Given the description of an element on the screen output the (x, y) to click on. 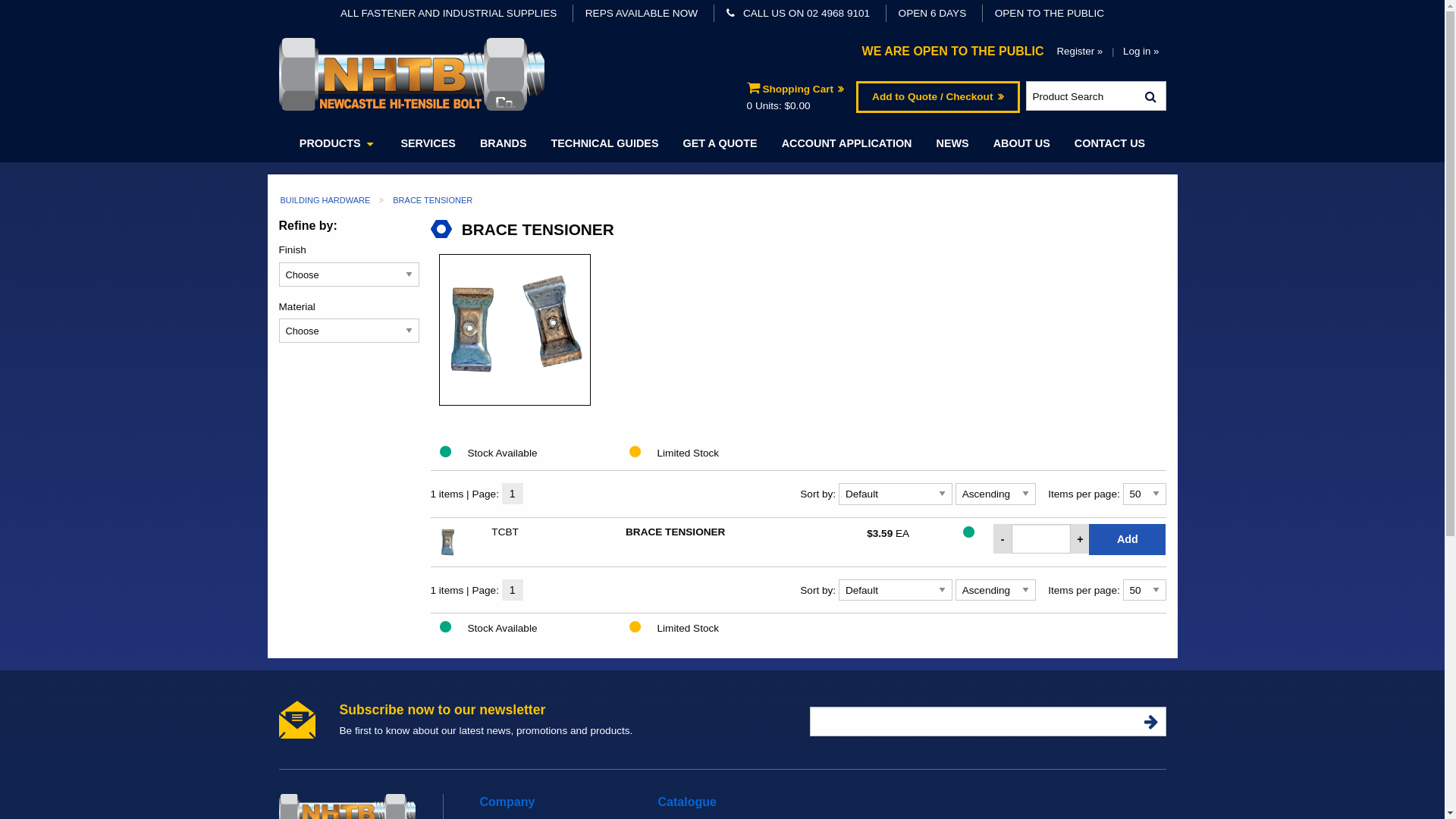
Add Element type: text (1126, 539)
GET A QUOTE Element type: text (720, 141)
Subscribe Element type: hover (1150, 721)
ACCOUNT APPLICATION Element type: text (846, 141)
ABOUT US Element type: text (1021, 141)
Shopping Cart Element type: text (795, 88)
BUILDING HARDWARE Element type: text (325, 199)
+ Element type: text (1079, 538)
SERVICES Element type: text (427, 141)
NEWS Element type: text (952, 141)
PRODUCTS Element type: text (338, 142)
BRACE TENSIONER Element type: text (711, 532)
- Element type: text (1002, 538)
Add to Quote / Checkout Element type: text (937, 96)
BRACE TENSIONER Element type: text (432, 199)
TECHNICAL GUIDES Element type: text (604, 141)
BRANDS Element type: text (503, 141)
CONTACT US Element type: text (1109, 141)
